Given the description of an element on the screen output the (x, y) to click on. 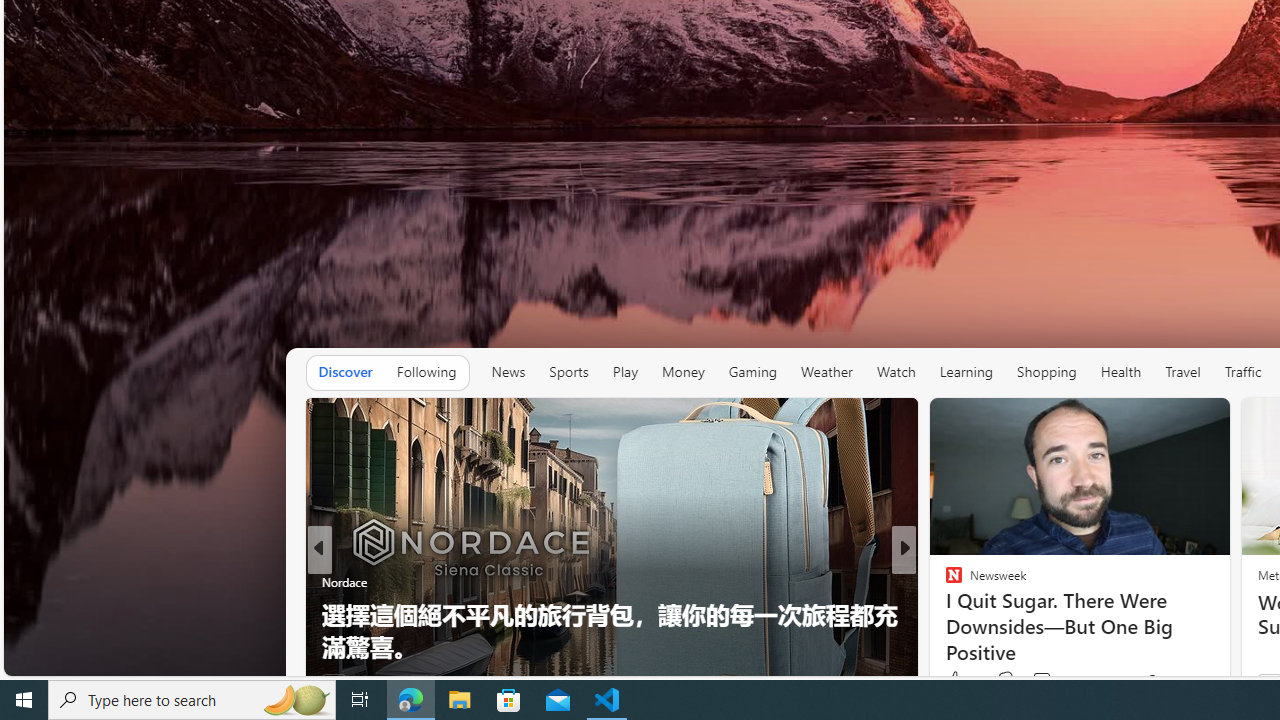
69 Like (956, 681)
Sports (568, 371)
The Associated Press (944, 581)
You're following Newsweek (1179, 679)
411 Like (959, 681)
View comments 96 Comment (1044, 681)
View comments 134 Comment (1036, 681)
Body Network (944, 614)
331 Like (959, 681)
Gaming (752, 372)
View comments 116 Comment (1053, 680)
